Given the description of an element on the screen output the (x, y) to click on. 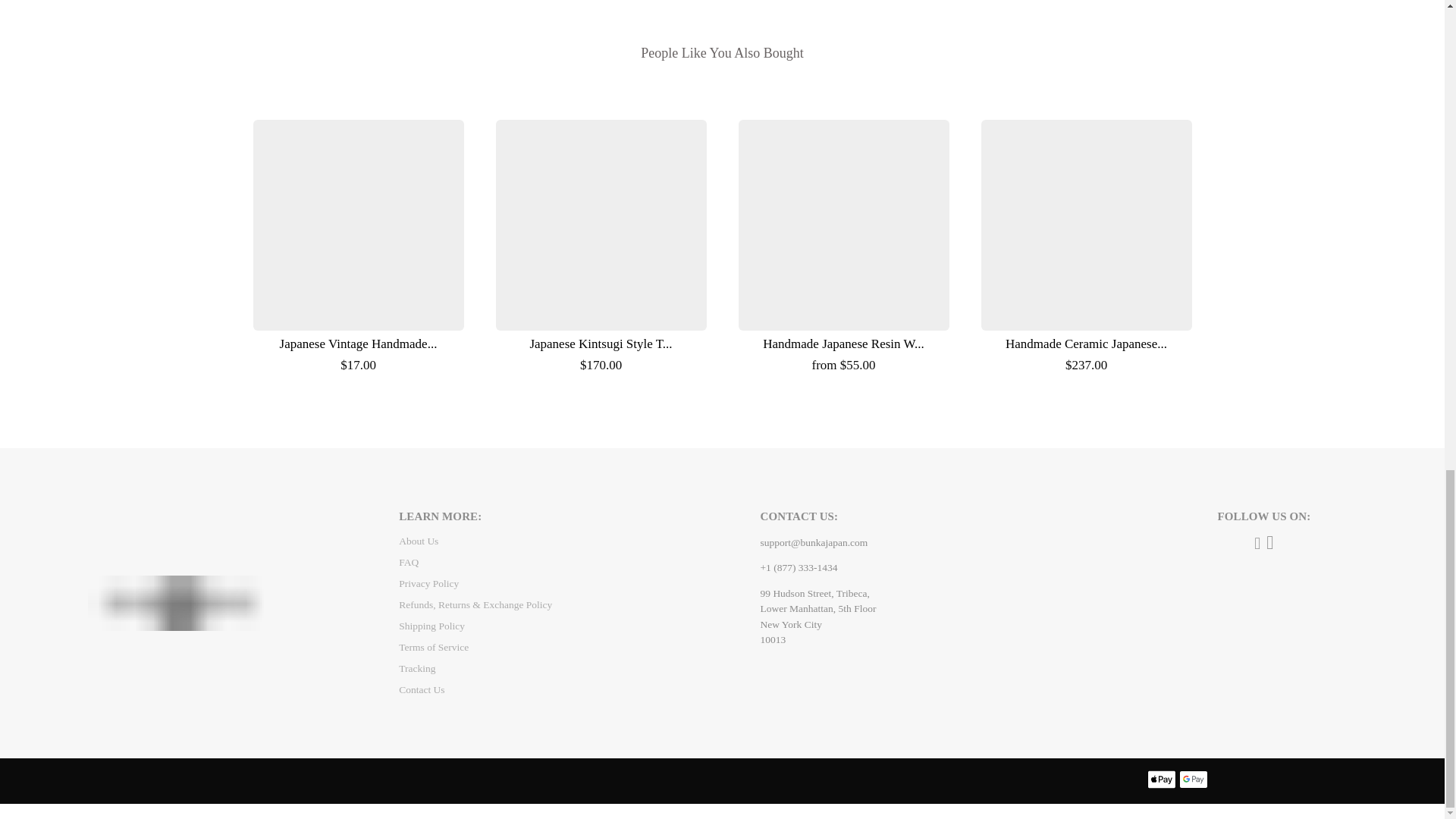
Google Pay (1192, 779)
Apple Pay (1161, 779)
